Given the description of an element on the screen output the (x, y) to click on. 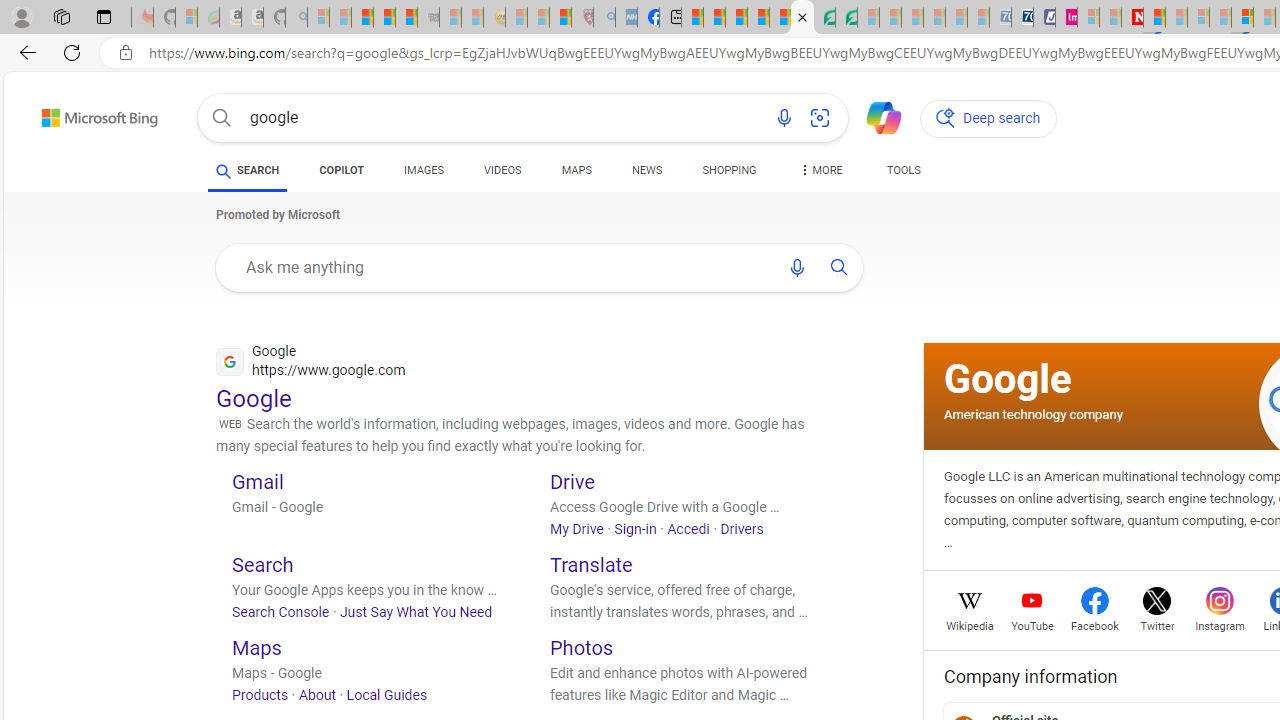
Translate (591, 564)
Search using voice (797, 267)
New Report Confirms 2023 Was Record Hot | Watch (406, 17)
